Given the description of an element on the screen output the (x, y) to click on. 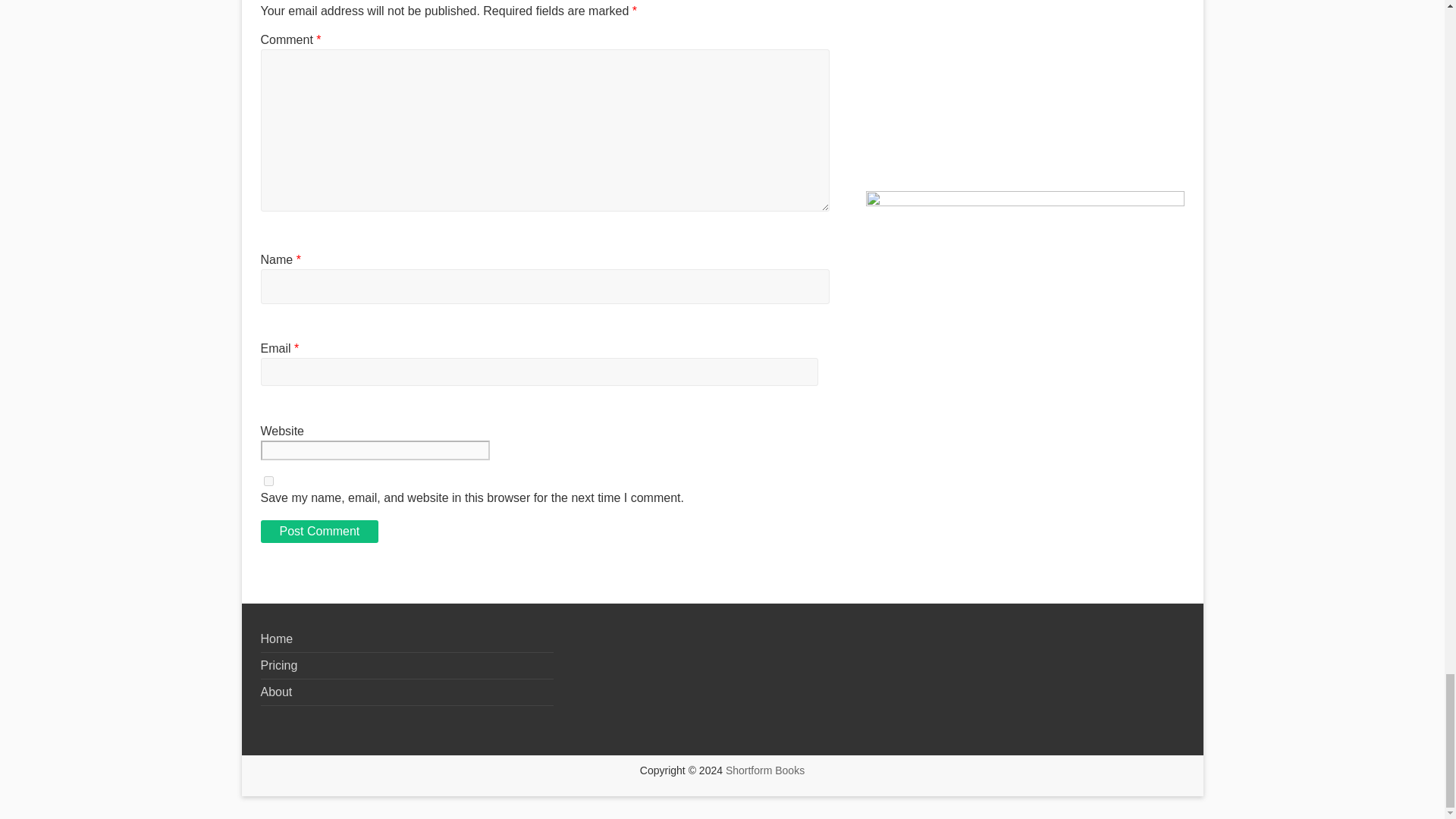
Post Comment (319, 531)
yes (268, 480)
